Given the description of an element on the screen output the (x, y) to click on. 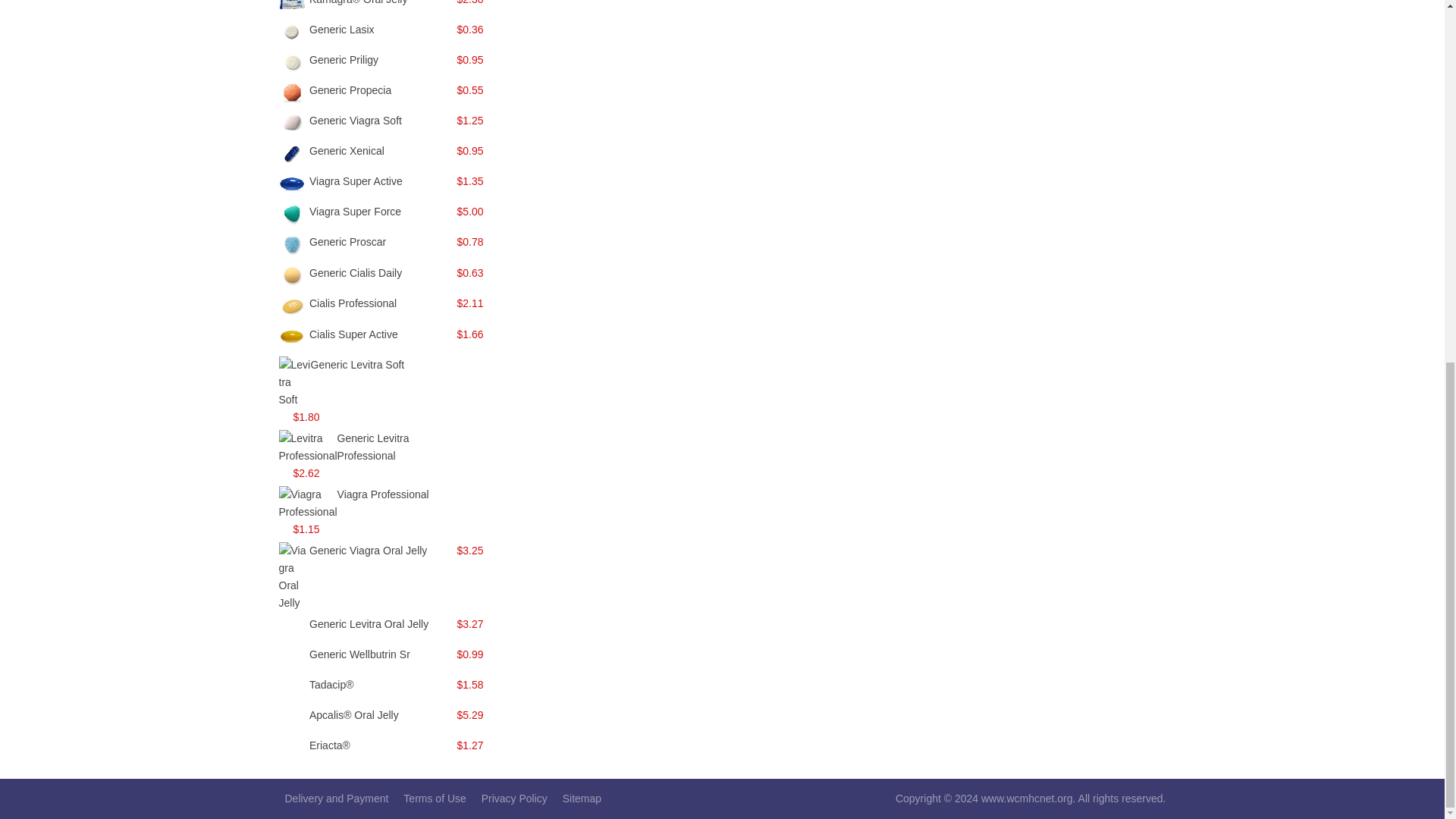
Viagra Super Force (354, 211)
Generic Viagra Soft (354, 120)
Generic Xenical (346, 150)
Generic Propecia (349, 90)
Generic Priligy (343, 60)
Generic Lasix (341, 29)
Viagra Super Active (355, 181)
